Given the description of an element on the screen output the (x, y) to click on. 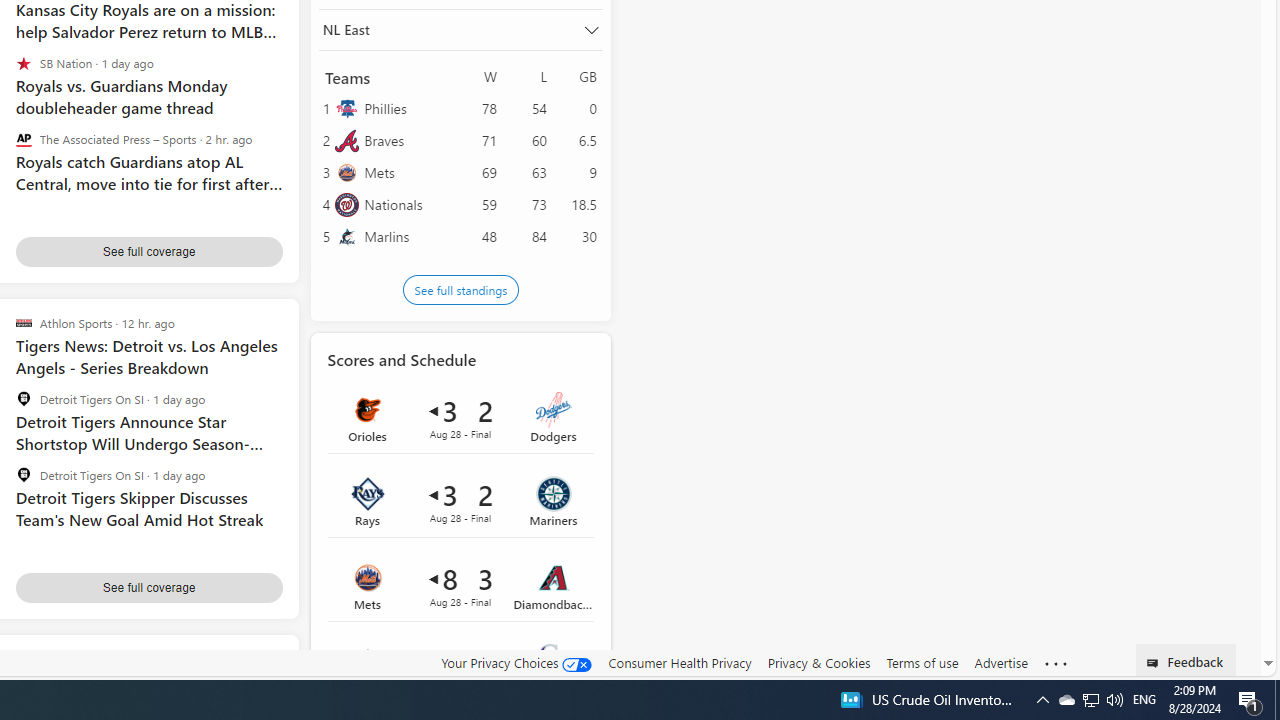
Rays 3 vs Mariners 2Final Date Aug 28 (459, 501)
Marlins 9 vs Rockies 8Final Date Aug 28 (459, 669)
See full coverage (148, 587)
See full standings (459, 289)
Your Privacy Choices (516, 663)
Marlins (406, 236)
Consumer Health Privacy (680, 662)
Class: around-the-league-card (459, 669)
Privacy & Cookies (818, 663)
Phillies (406, 107)
